Given the description of an element on the screen output the (x, y) to click on. 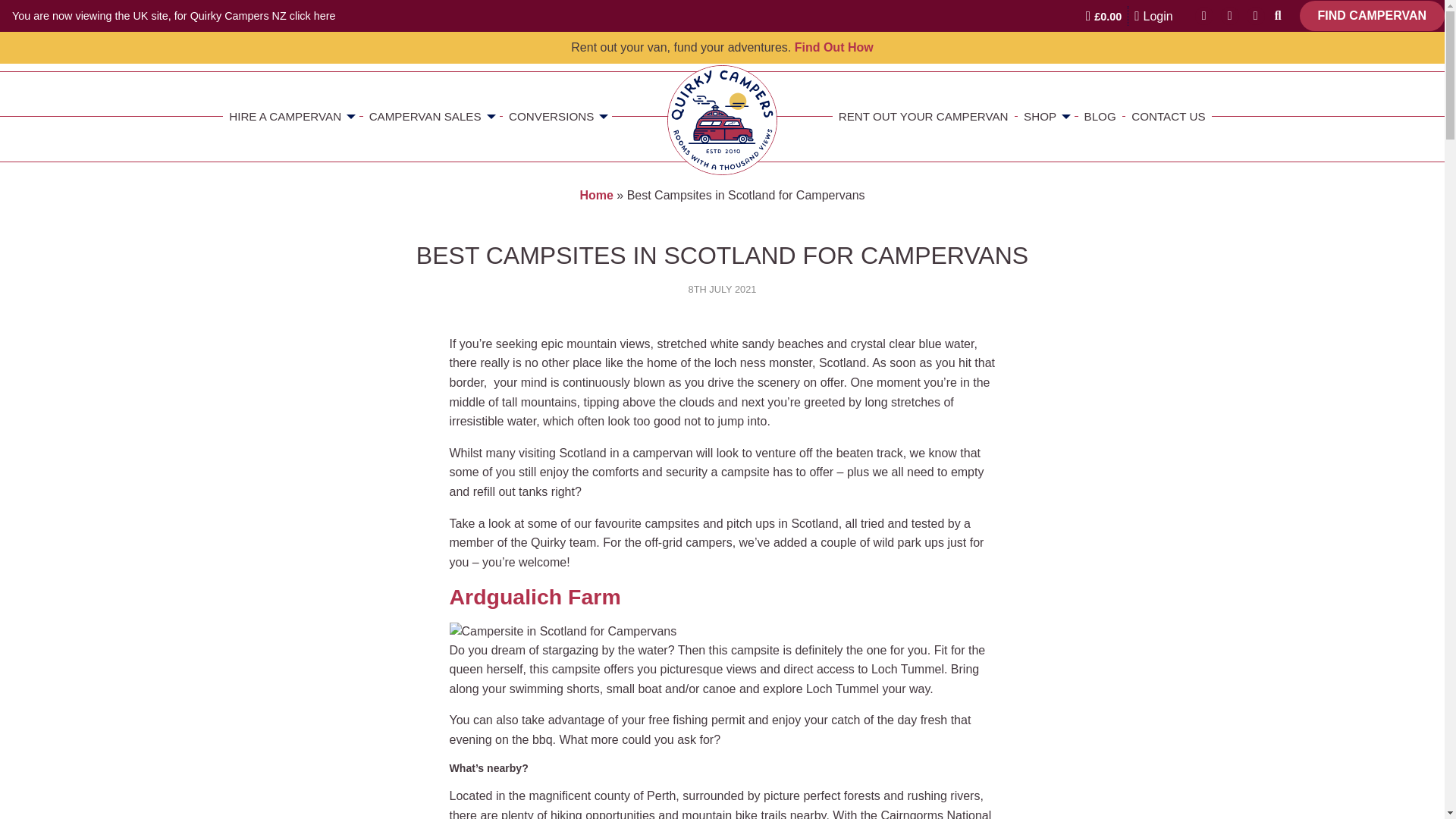
CONVERSIONS (556, 115)
Quirky Campers homepage (721, 119)
CAMPERVAN SALES (430, 115)
SHOP (1045, 115)
Ardgualich Farm Campsite  (562, 631)
RENT OUT YOUR CAMPERVAN (923, 115)
HIRE A CAMPERVAN (290, 115)
Login (1153, 15)
Find Out How (833, 47)
